Given the description of an element on the screen output the (x, y) to click on. 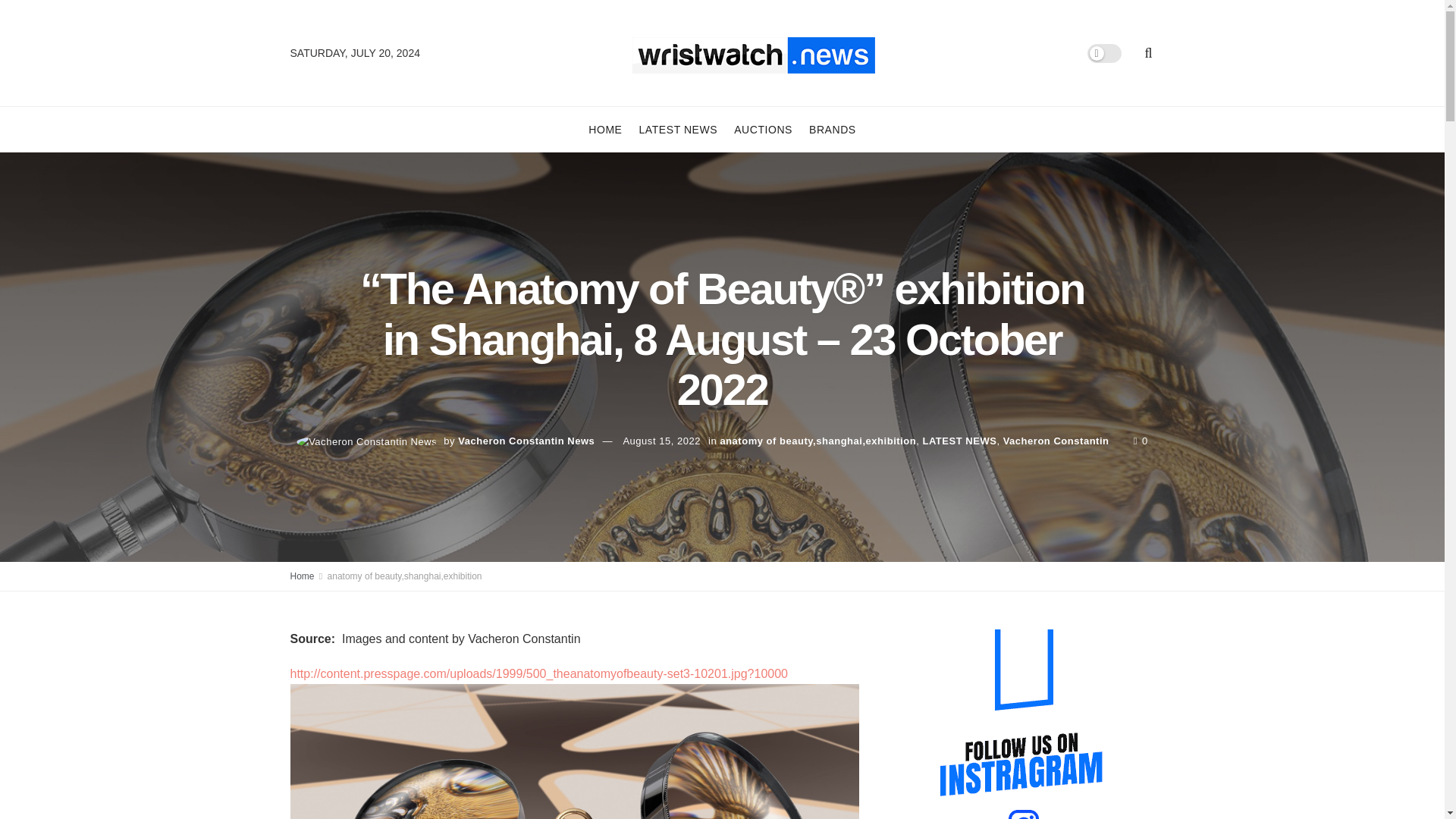
BRANDS (832, 129)
anatomy of beauty,shanghai,exhibition (404, 575)
anatomy of beauty,shanghai,exhibition (817, 440)
Home (301, 575)
Vacheron Constantin (1056, 440)
LATEST NEWS (958, 440)
August 15, 2022 (661, 440)
Vacheron Constantin News (526, 440)
0 (1141, 440)
AUCTIONS (762, 129)
LATEST NEWS (678, 129)
